Given the description of an element on the screen output the (x, y) to click on. 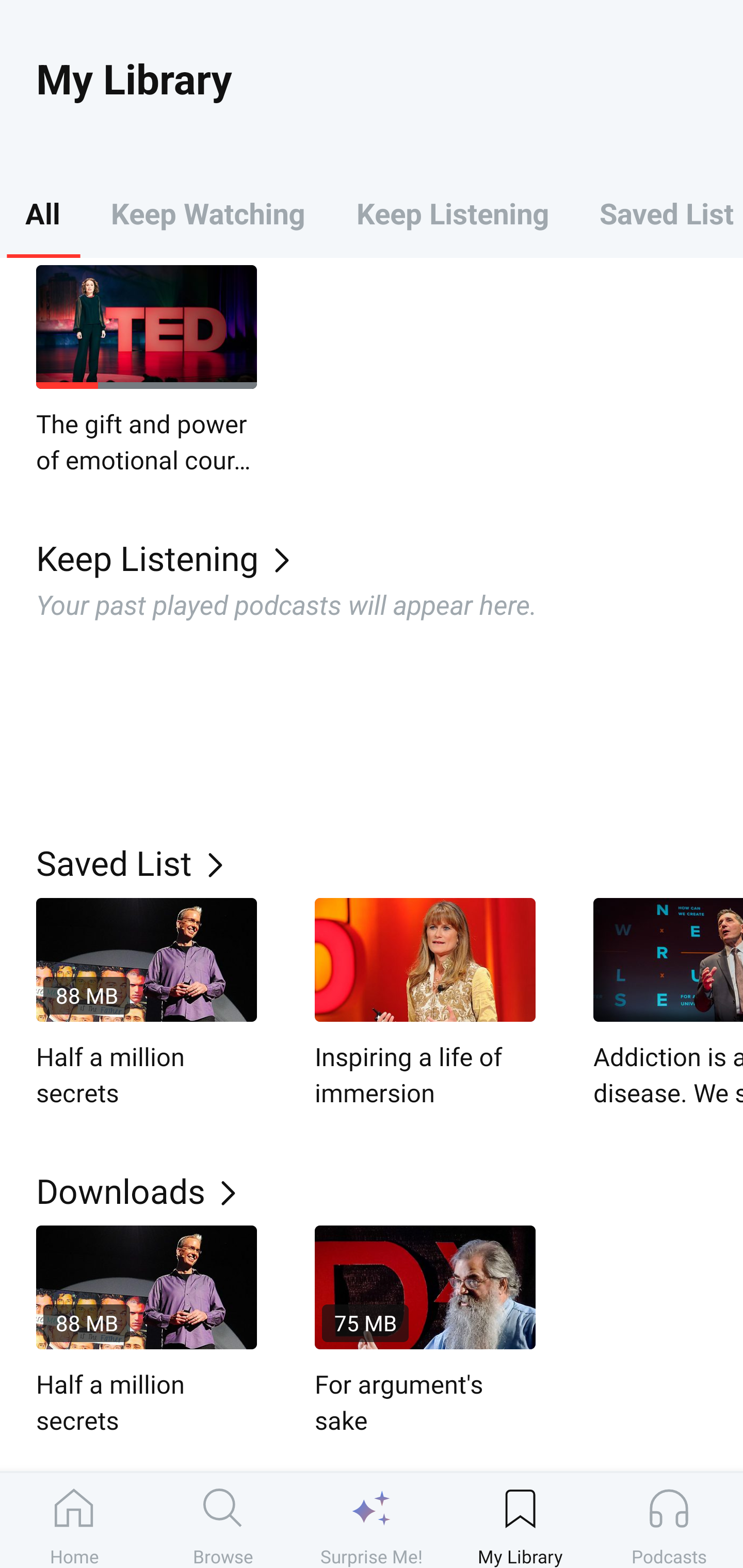
All (42, 212)
Keep Watching (207, 212)
Keep Listening (452, 212)
Saved List (658, 212)
The gift and power of emotional courage (146, 370)
Keep Listening (389, 557)
Saved List (389, 862)
88 MB Half a million secrets (146, 1004)
Inspiring a life of immersion (425, 1004)
Downloads (389, 1190)
88 MB Half a million secrets (146, 1331)
75 MB For argument's sake (425, 1331)
Home (74, 1520)
Browse (222, 1520)
Surprise Me! (371, 1520)
My Library (519, 1520)
Podcasts (668, 1520)
